Given the description of an element on the screen output the (x, y) to click on. 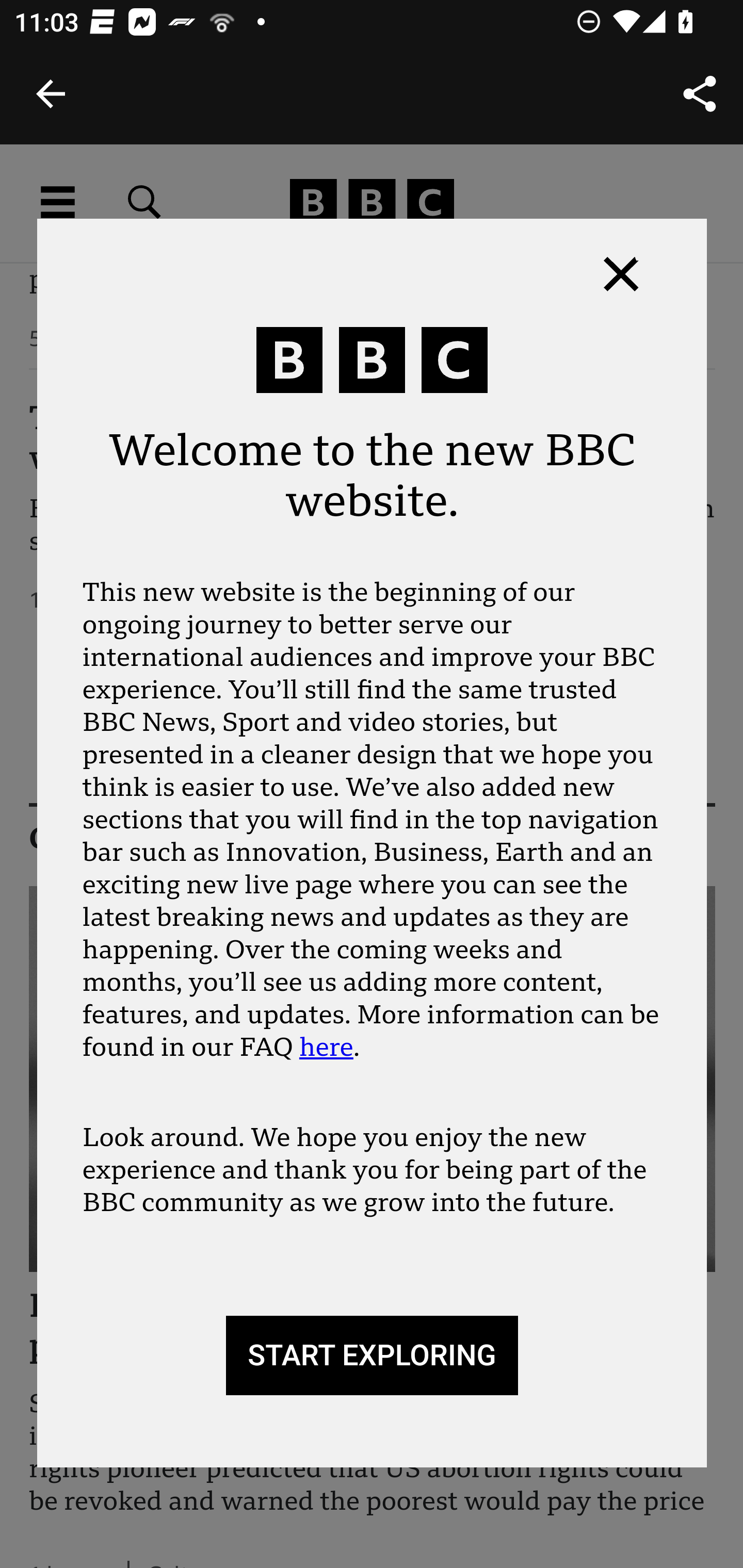
Back (50, 93)
Share (699, 93)
here (325, 1046)
START EXPLORING (371, 1355)
